Given the description of an element on the screen output the (x, y) to click on. 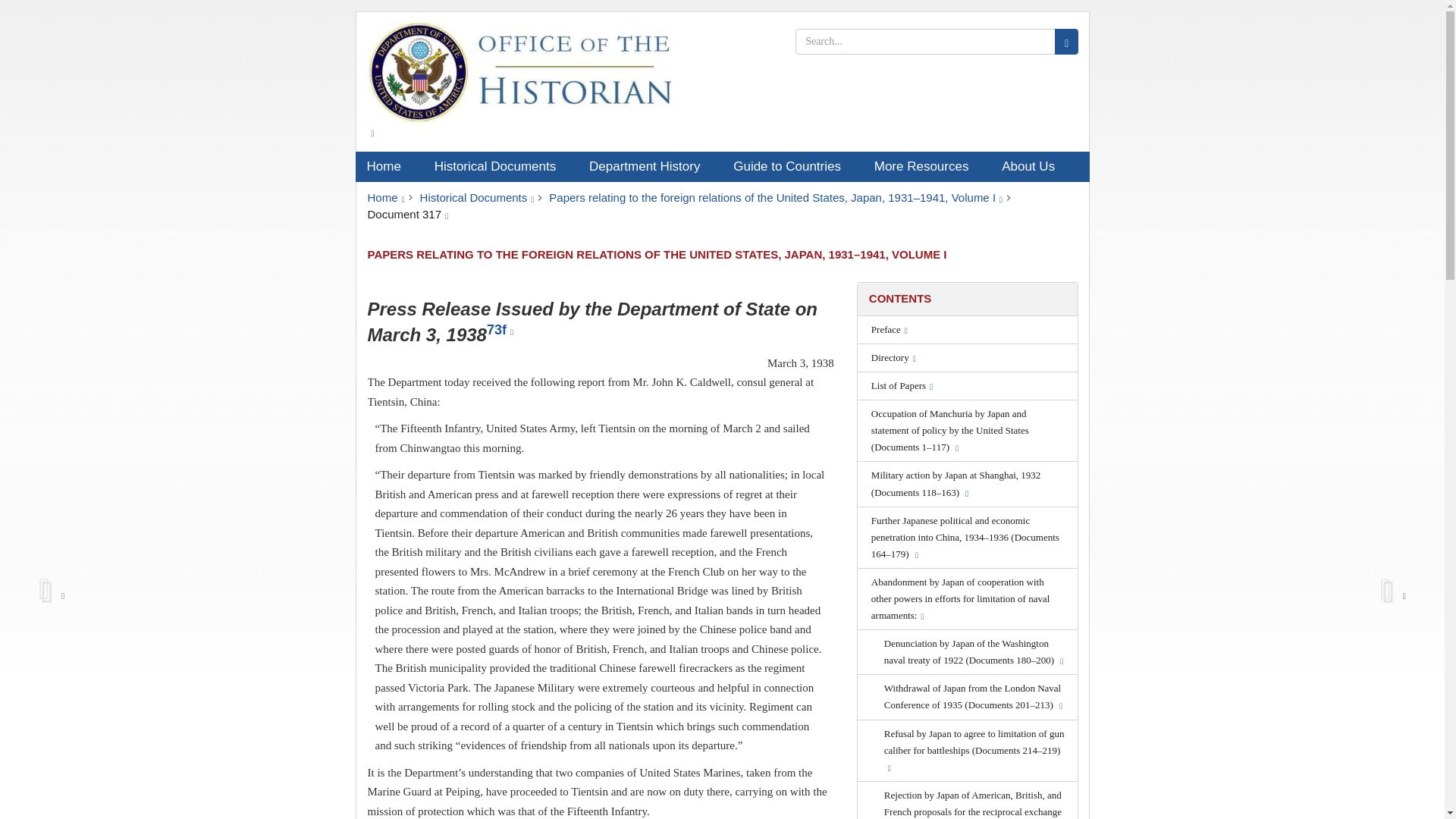
Historical Documents (477, 196)
Department History (650, 166)
More Resources (926, 166)
Home (388, 166)
About Us (1033, 166)
Historical Documents (500, 166)
Document 317 (407, 214)
Home (385, 196)
Guide to Countries (792, 166)
